Given the description of an element on the screen output the (x, y) to click on. 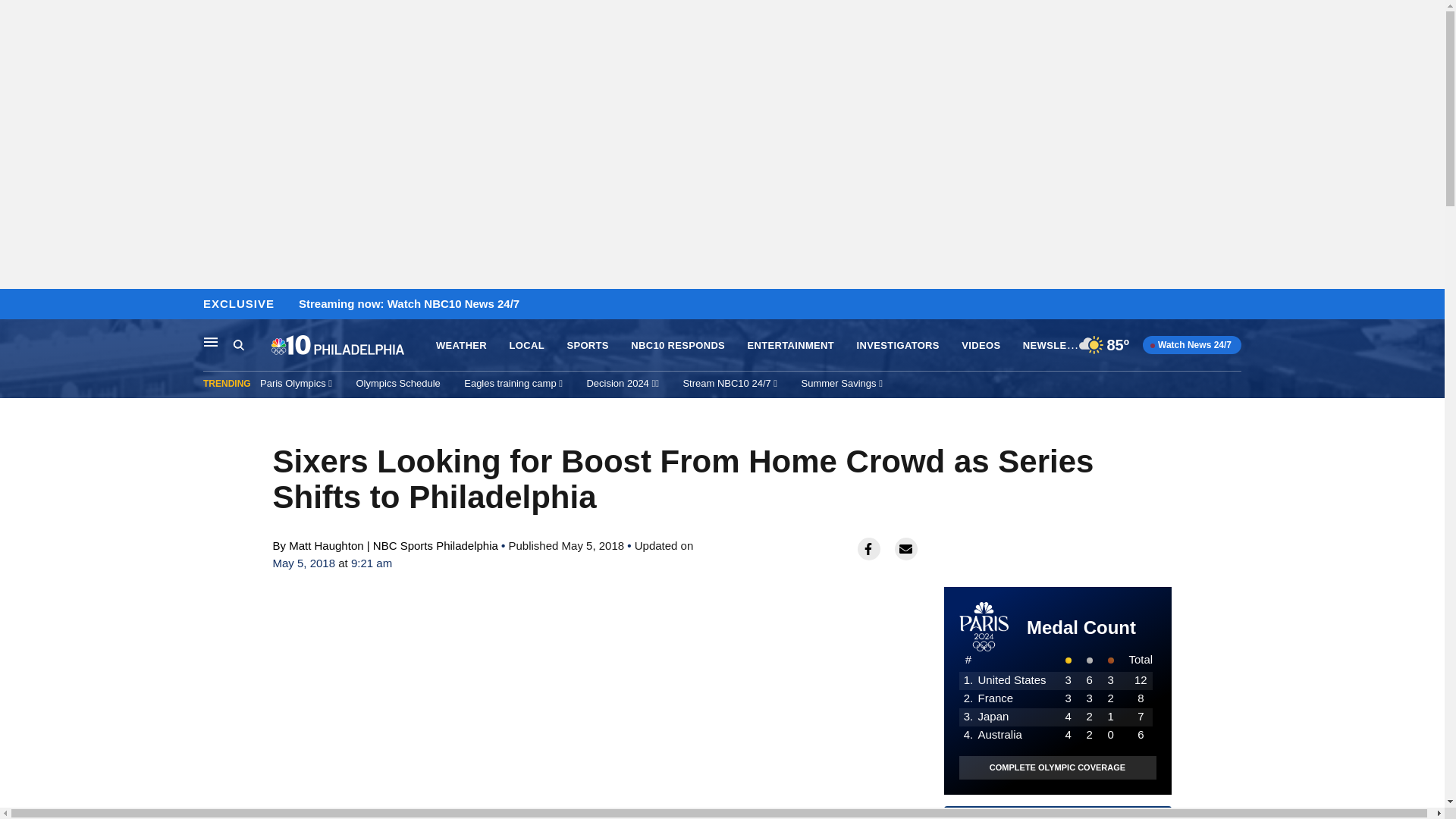
WEATHER (460, 345)
NEWSLETTERS (1061, 344)
NBC10 RESPONDS (677, 345)
Olympics Schedule (398, 383)
Search (238, 344)
VIDEOS (980, 345)
ENTERTAINMENT (791, 345)
Search (252, 345)
Main Navigation (210, 341)
SPORTS (587, 345)
INVESTIGATORS (898, 345)
Skip to content (16, 304)
LOCAL (526, 345)
